Given the description of an element on the screen output the (x, y) to click on. 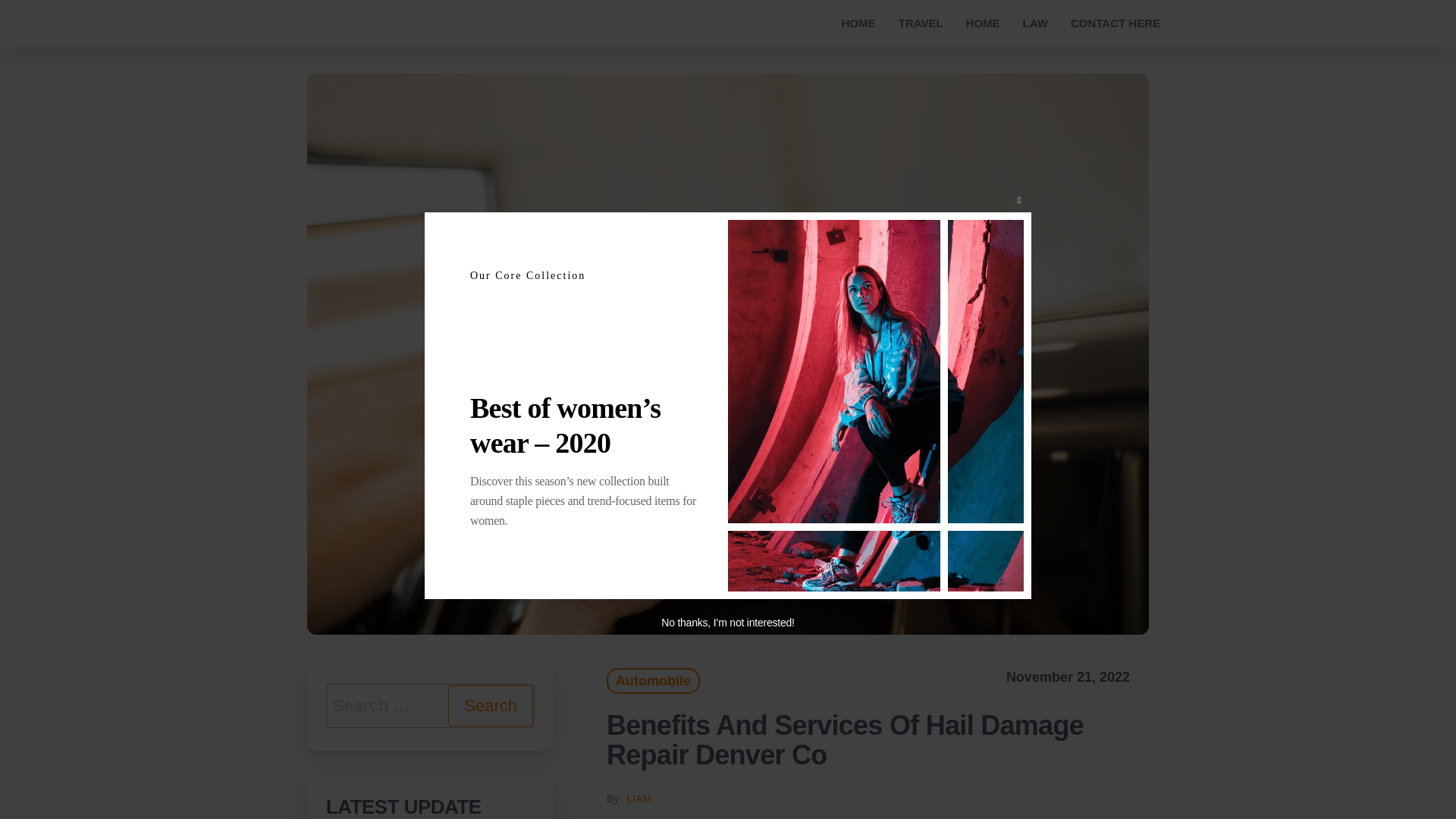
LAW (1035, 22)
Automobile (653, 680)
HOME (983, 22)
TRAVEL (920, 22)
Contact Here (1115, 22)
HOME (857, 22)
Home (857, 22)
Search (490, 705)
LIAM (638, 798)
Law (1035, 22)
